Given the description of an element on the screen output the (x, y) to click on. 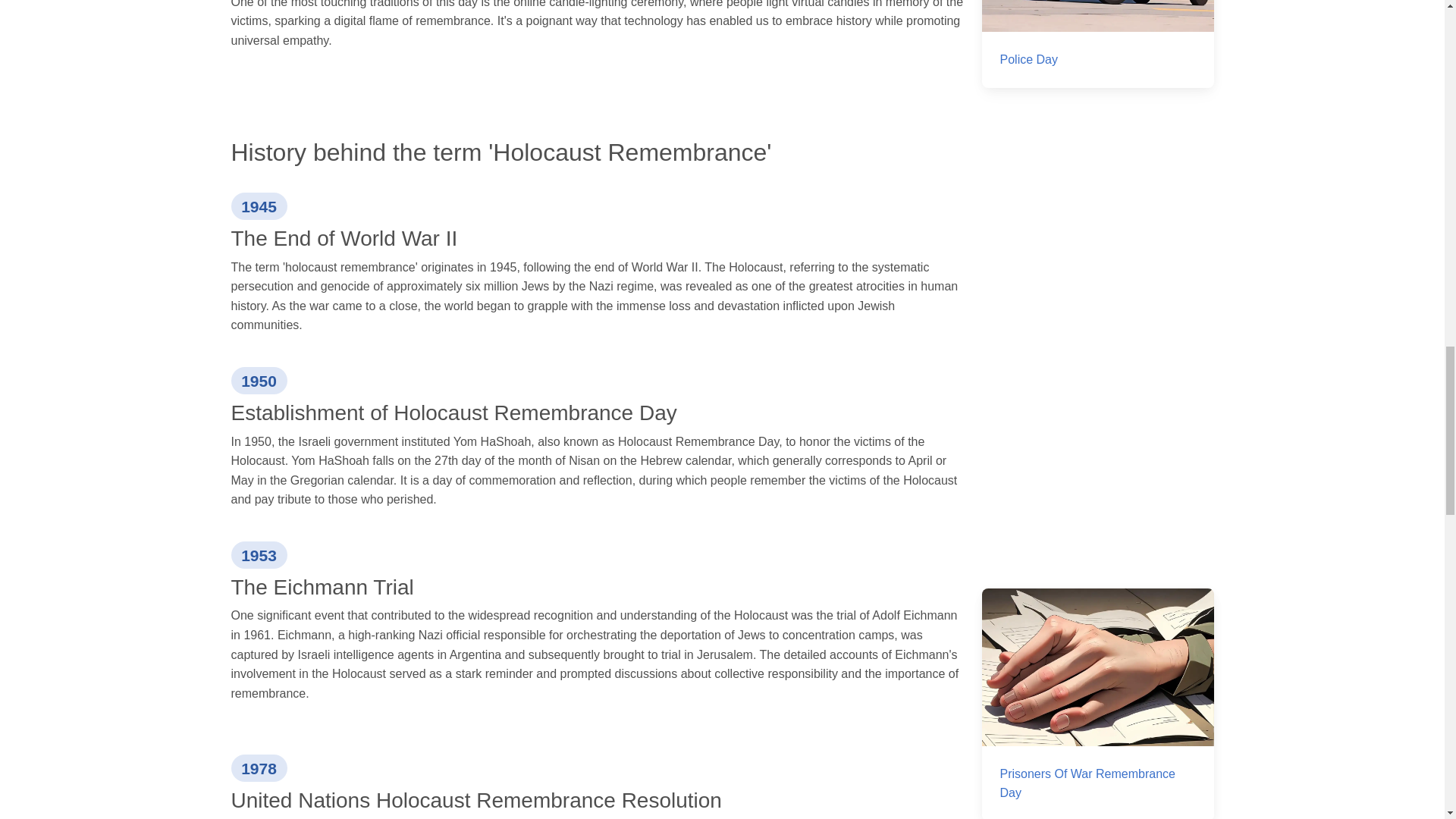
Prisoners Of War Remembrance Day (1096, 703)
Police Day (1096, 43)
